Given the description of an element on the screen output the (x, y) to click on. 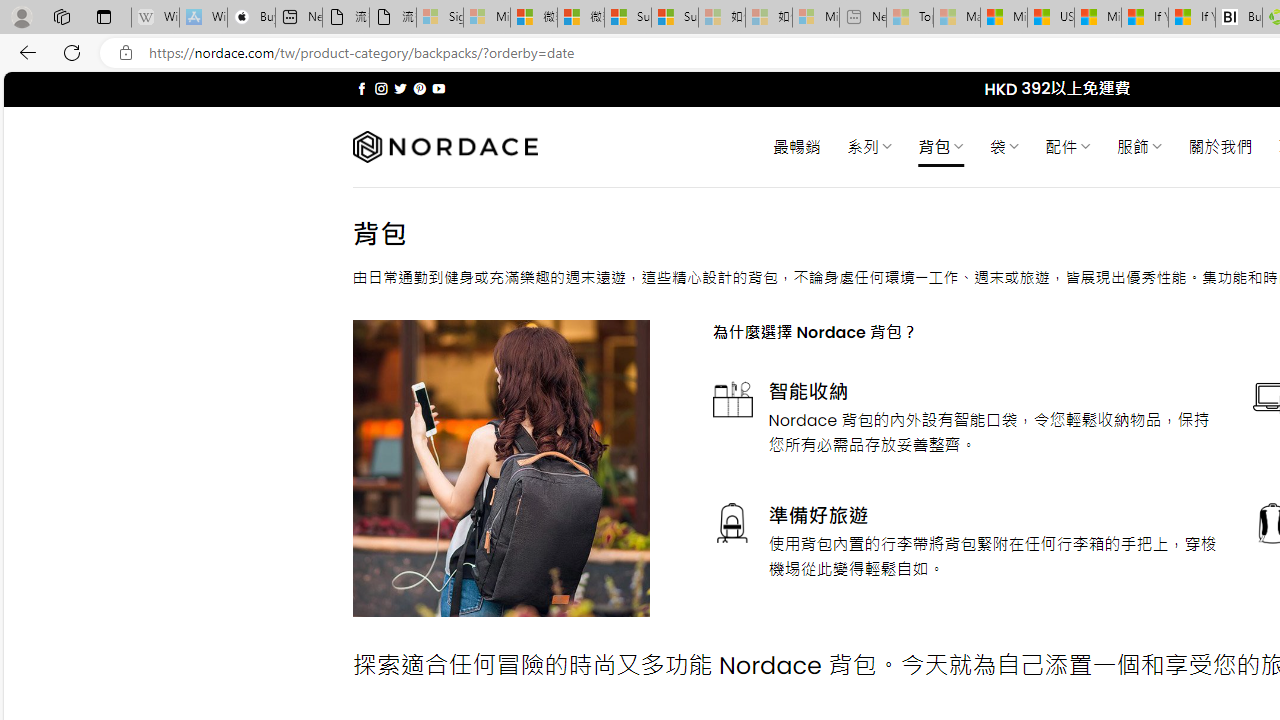
Follow on Instagram (381, 88)
Follow on Facebook (361, 88)
